Given the description of an element on the screen output the (x, y) to click on. 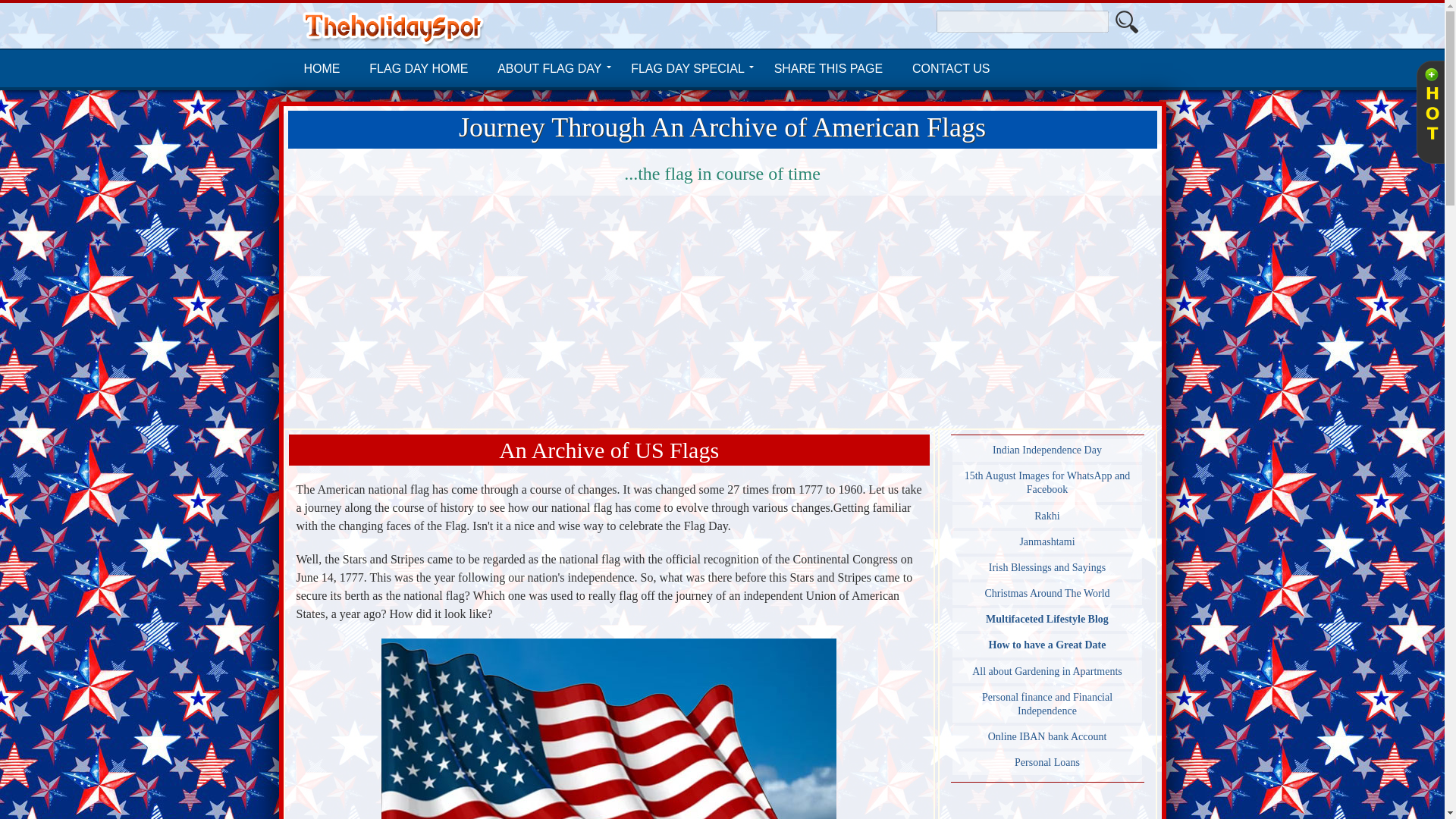
Christmas Around The World (1047, 593)
Indian Independence Day (1047, 449)
FLAG DAY SPECIAL (687, 68)
All about Gardening in Apartments (1047, 671)
Janmashtami (1047, 541)
Online IBAN bank Account (1047, 736)
Personal finance and Financial Independence (1047, 704)
Irish Blessings and Sayings (1047, 567)
ABOUT FLAG DAY (548, 68)
15th August Images for WhatsApp and Facebook (1047, 483)
